Given the description of an element on the screen output the (x, y) to click on. 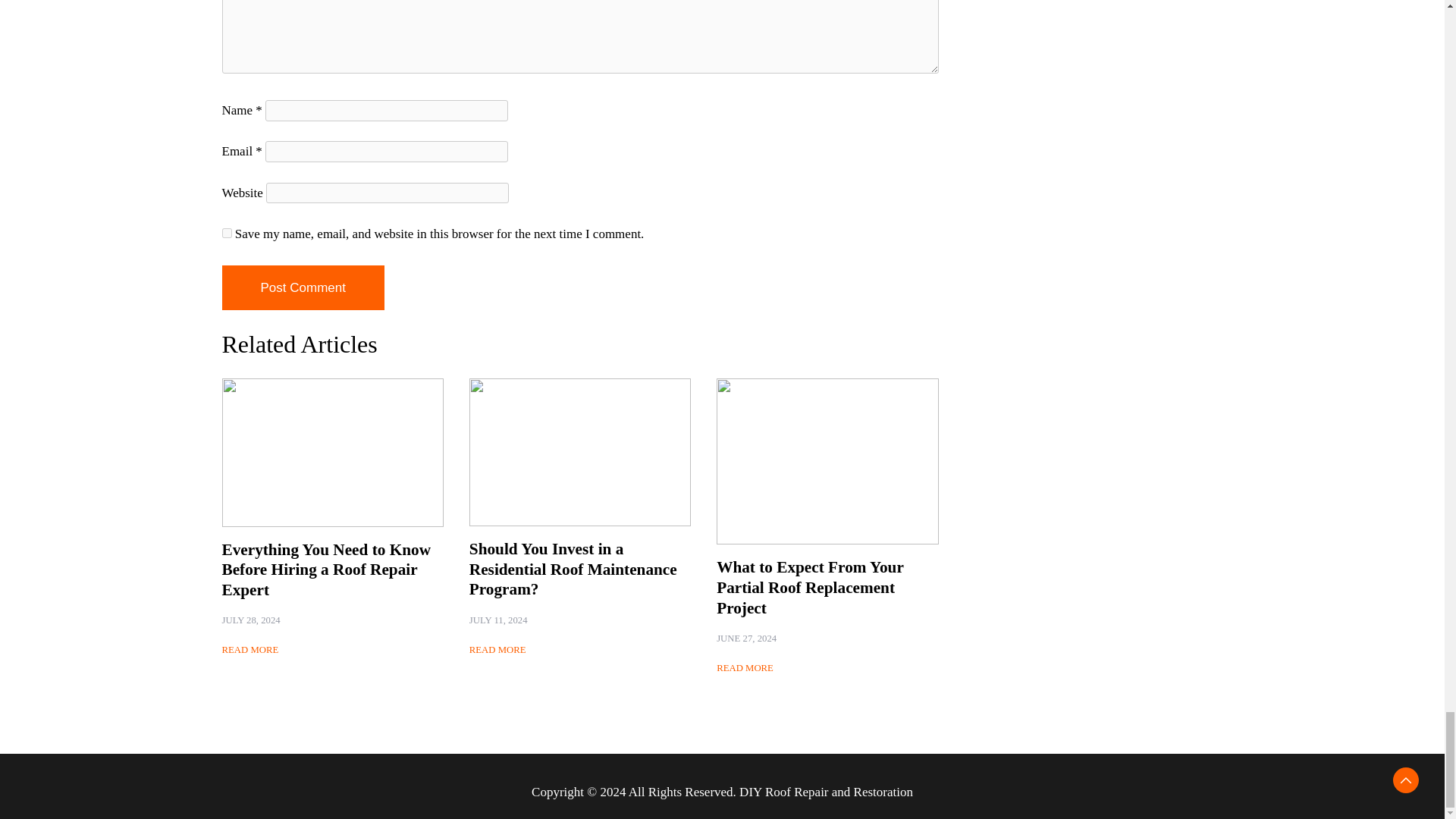
Should You Invest in a Residential Roof Maintenance Program? (572, 568)
READ MORE (496, 650)
JULY 11, 2024 (497, 620)
READ MORE (249, 650)
Post Comment (302, 288)
What to Expect From Your Partial Roof Replacement Project (809, 586)
JULY 28, 2024 (250, 620)
Post Comment (302, 288)
JUNE 27, 2024 (746, 638)
yes (226, 233)
